Given the description of an element on the screen output the (x, y) to click on. 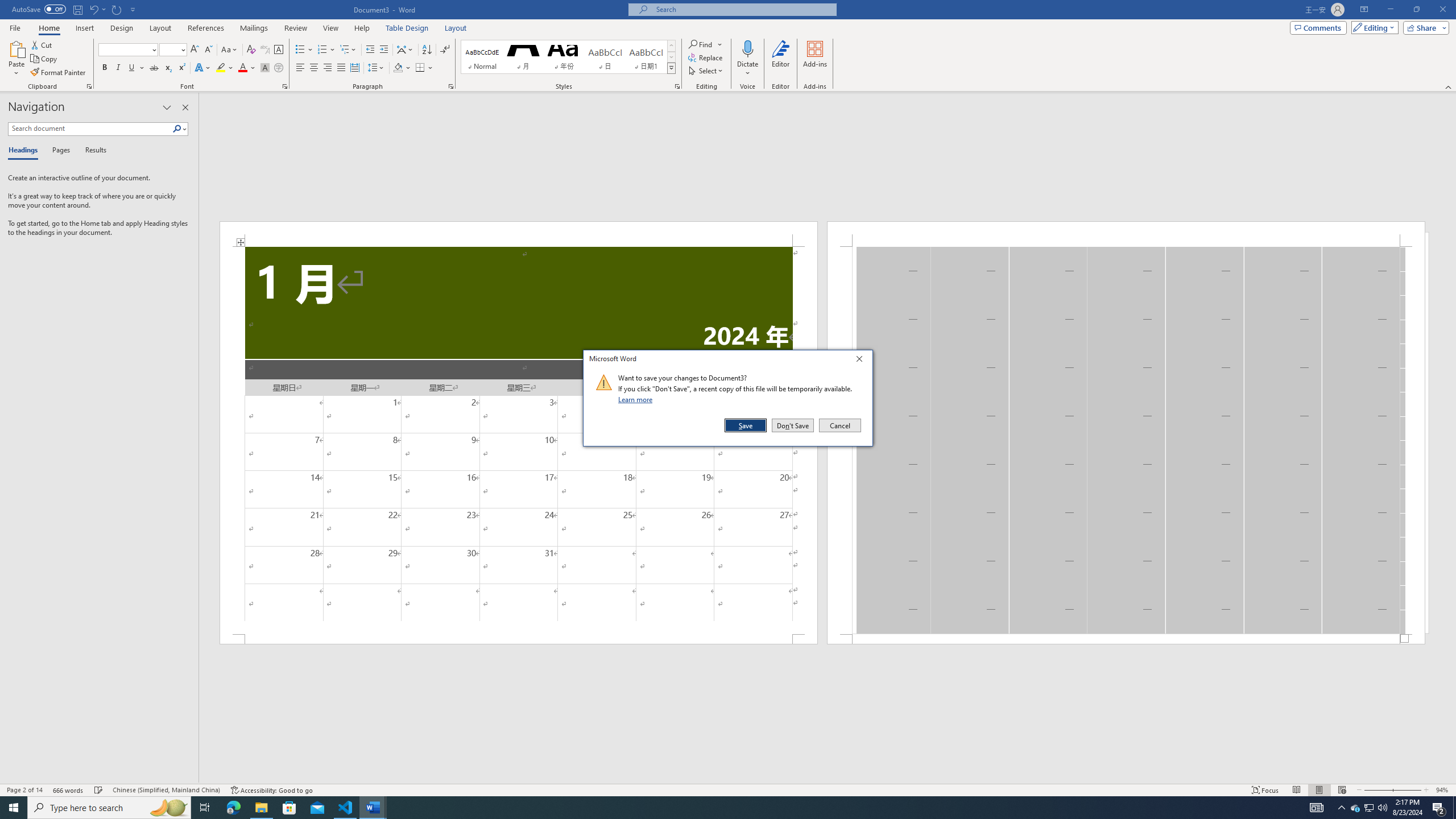
Language Chinese (Simplified, Mainland China) (165, 790)
Font... (285, 85)
Header -Section 1- (1126, 233)
Increase Indent (383, 49)
Align Left (300, 67)
User Promoted Notification Area (1368, 807)
Cancel (839, 425)
AutomationID: 4105 (1316, 807)
